Given the description of an element on the screen output the (x, y) to click on. 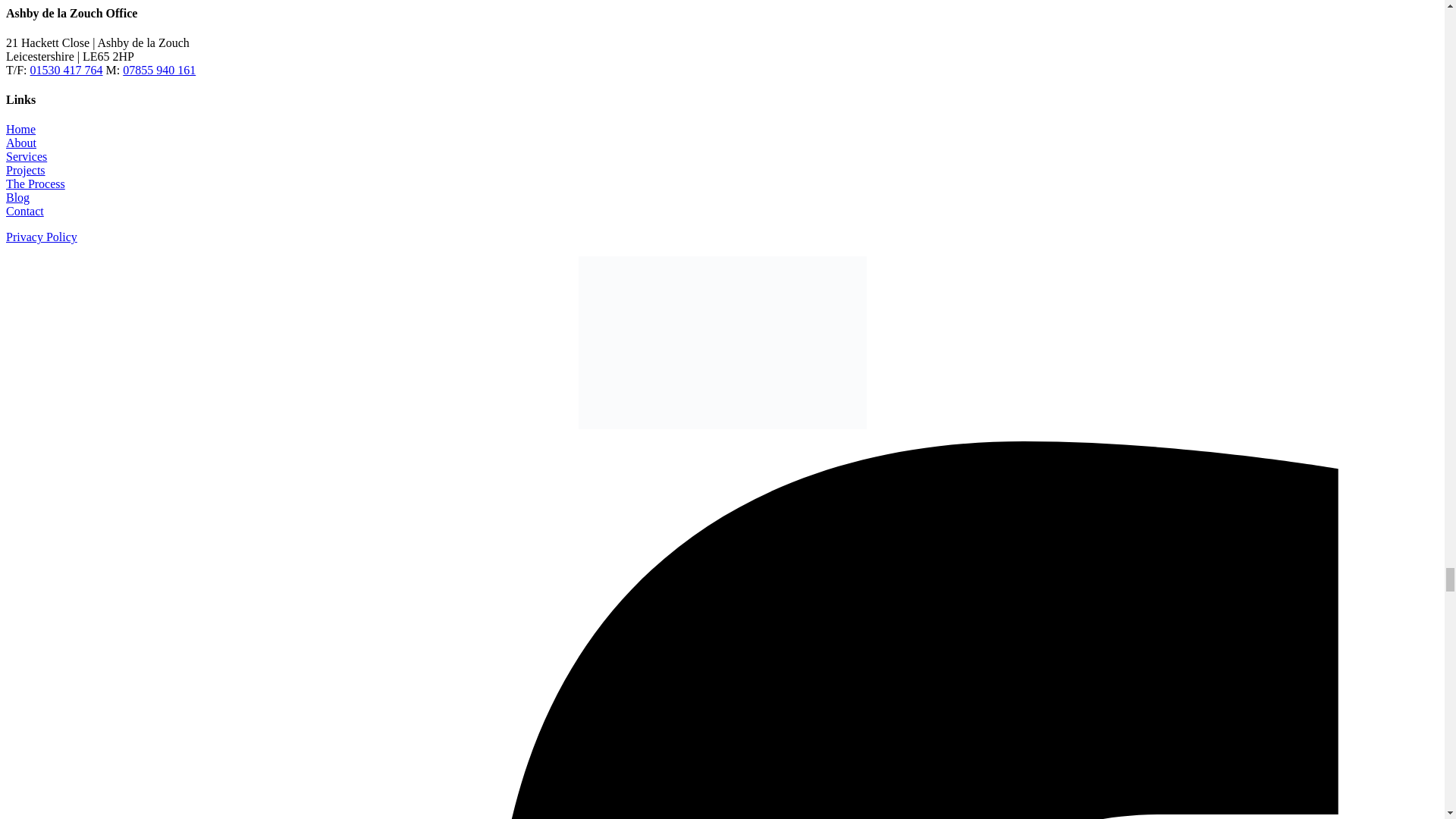
CIAT Chartered Practice logo (722, 342)
Privacy Policy (41, 236)
The Process (35, 183)
Architectural Services in Sutton Coldfield (25, 155)
Architectural blog (17, 196)
